Given the description of an element on the screen output the (x, y) to click on. 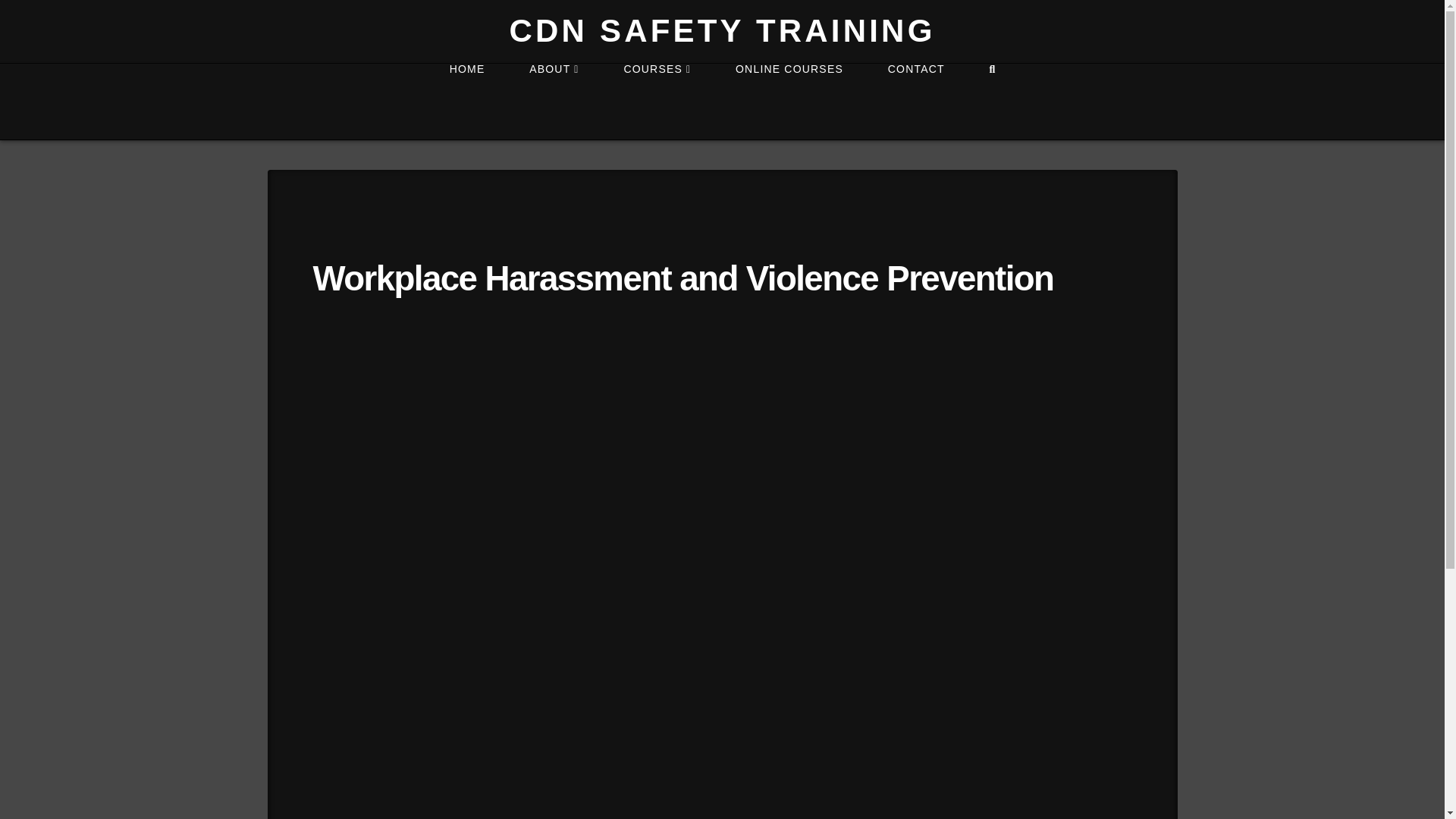
CONTACT (915, 101)
CDN SAFETY TRAINING (721, 30)
COURSES (656, 101)
ABOUT (552, 101)
HOME (466, 101)
ONLINE COURSES (788, 101)
